Given the description of an element on the screen output the (x, y) to click on. 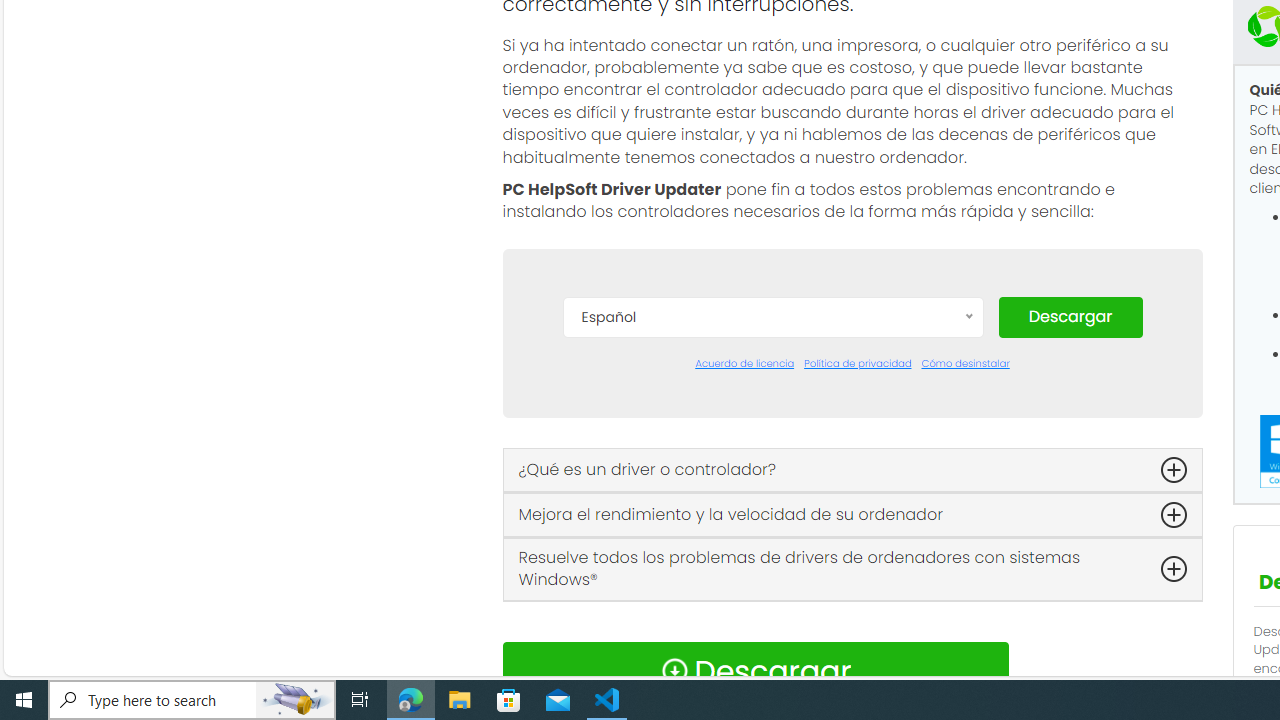
Deutsch (772, 472)
